Given the description of an element on the screen output the (x, y) to click on. 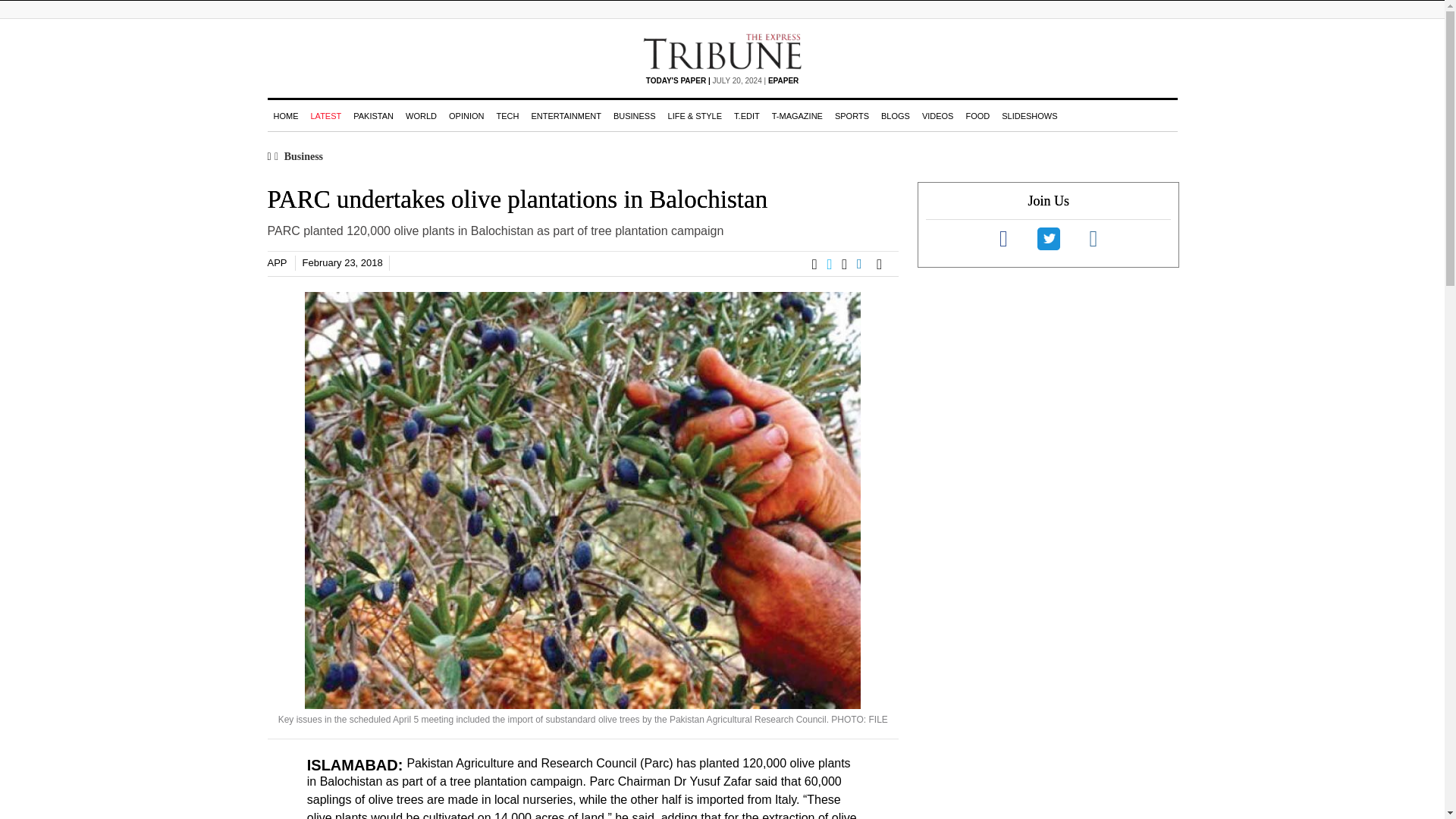
WHATSUP (849, 264)
PAKISTAN (372, 114)
EMAIL (883, 264)
BLOGS (895, 114)
TWITTER (834, 264)
APP (276, 262)
LINKDED (866, 264)
ENTERTAINMENT (565, 114)
SPORTS (851, 114)
FACEBOOK (819, 264)
BUSINESS (634, 114)
T-MAGAZINE (796, 114)
FOOD (977, 114)
SLIDESHOWS (1028, 114)
